Given the description of an element on the screen output the (x, y) to click on. 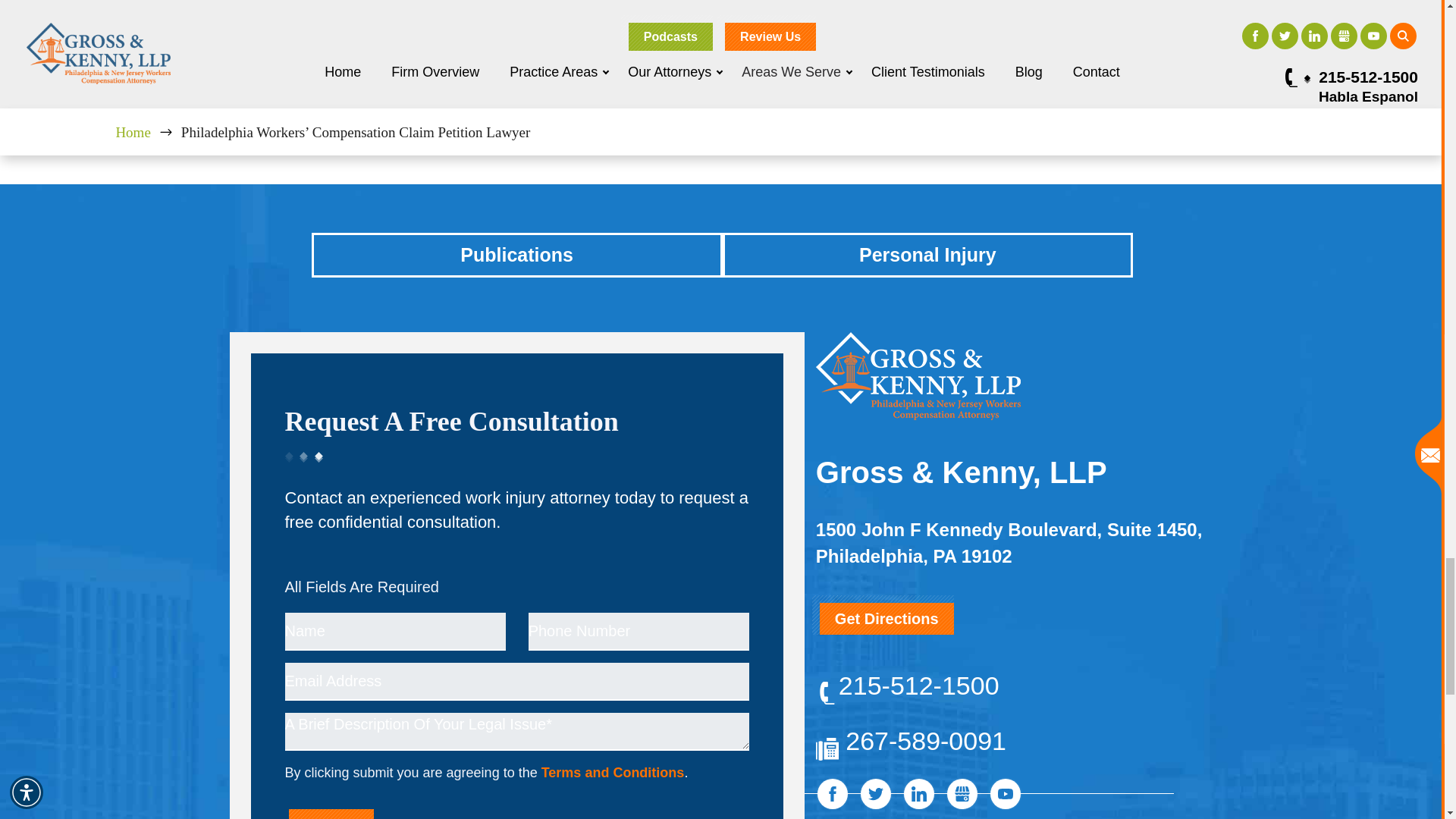
Submit (331, 814)
Terms and Conditions (612, 772)
